Given the description of an element on the screen output the (x, y) to click on. 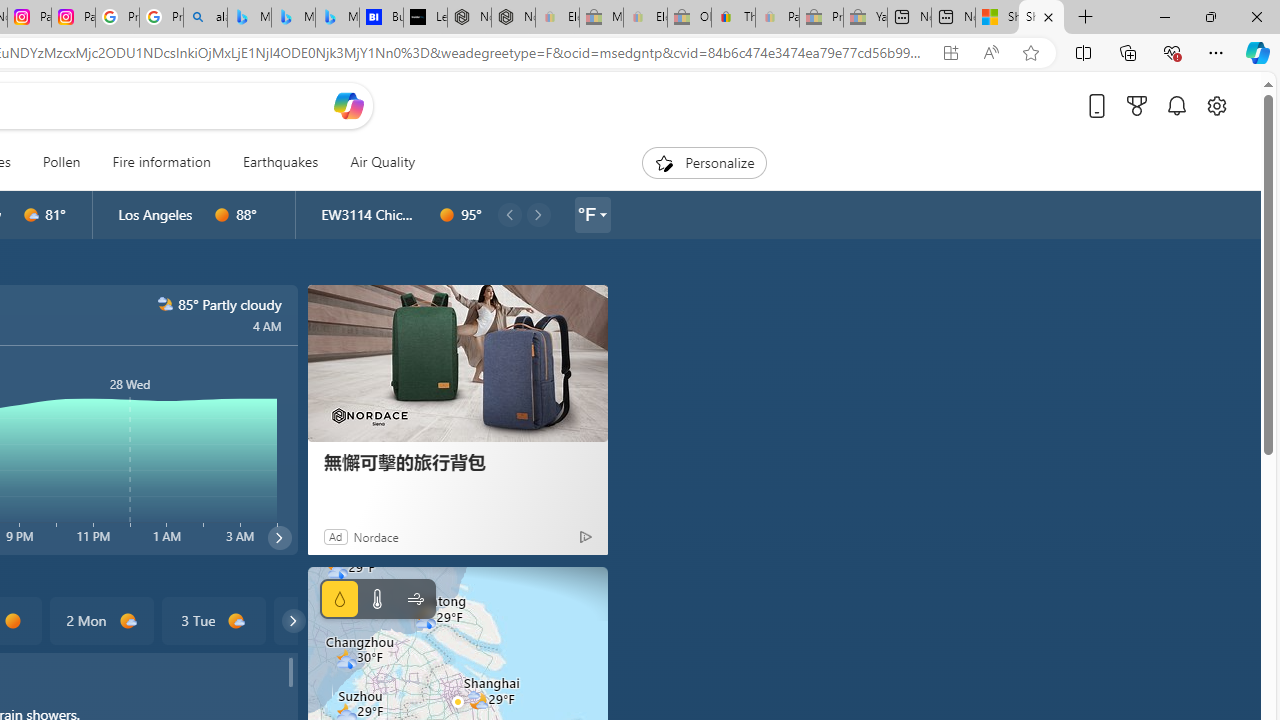
Personalize (703, 162)
Press Room - eBay Inc. - Sleeping (821, 17)
Earthquakes (279, 162)
Shanghai, China hourly forecast | Microsoft Weather (1041, 17)
Pollen (61, 162)
Air Quality (375, 162)
alabama high school quarterback dies - Search (205, 17)
